Given the description of an element on the screen output the (x, y) to click on. 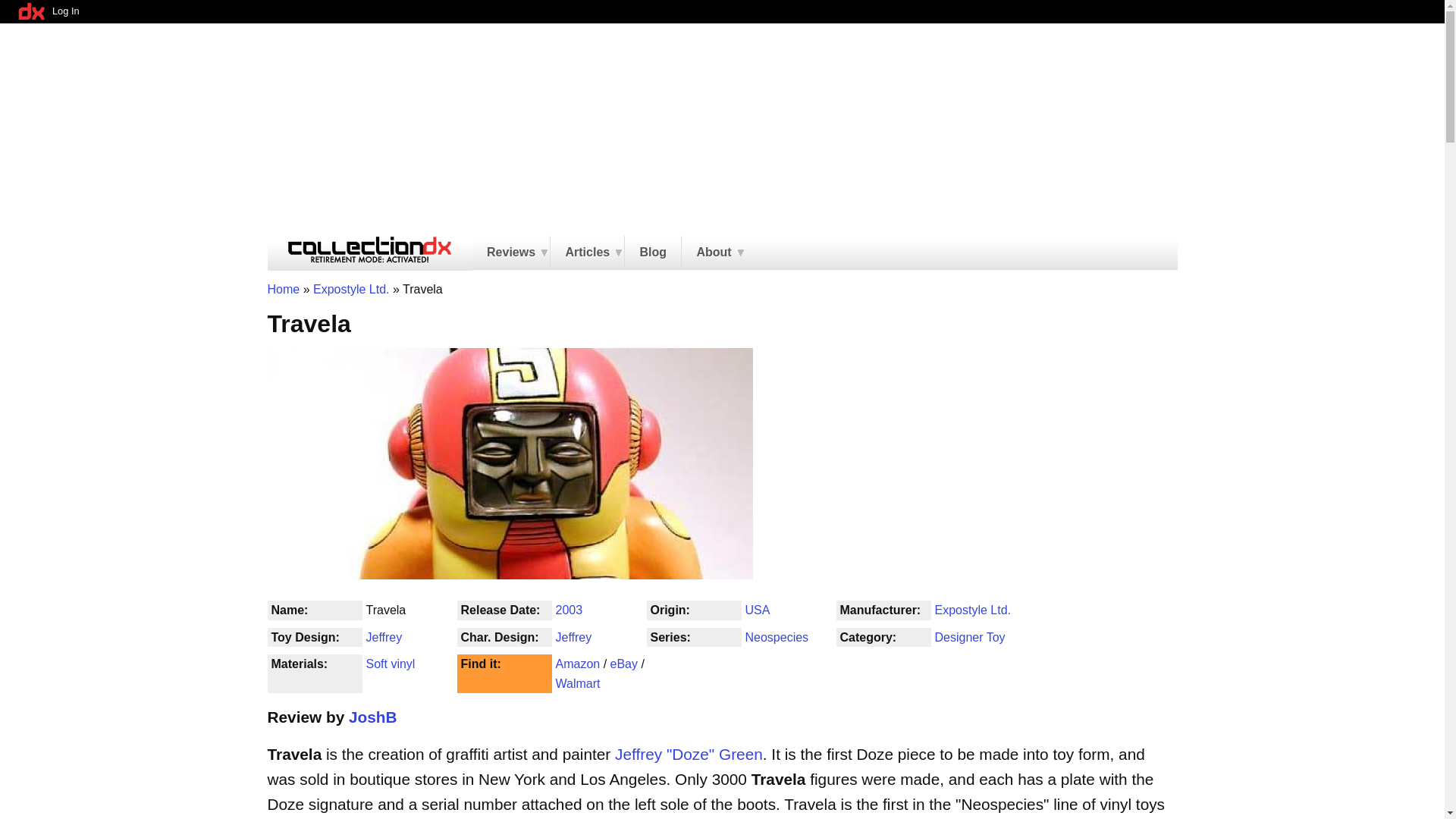
Toy Reviews (510, 252)
Expostyle Ltd. (351, 288)
Jeffrey (572, 636)
Blog (652, 252)
About (713, 252)
Expostyle Ltd. (972, 609)
Home (282, 288)
Log In (65, 11)
Jeffrey (383, 636)
2003 (568, 609)
Reviews (510, 252)
Articles (587, 252)
Articles (587, 252)
USA (757, 609)
